Given the description of an element on the screen output the (x, y) to click on. 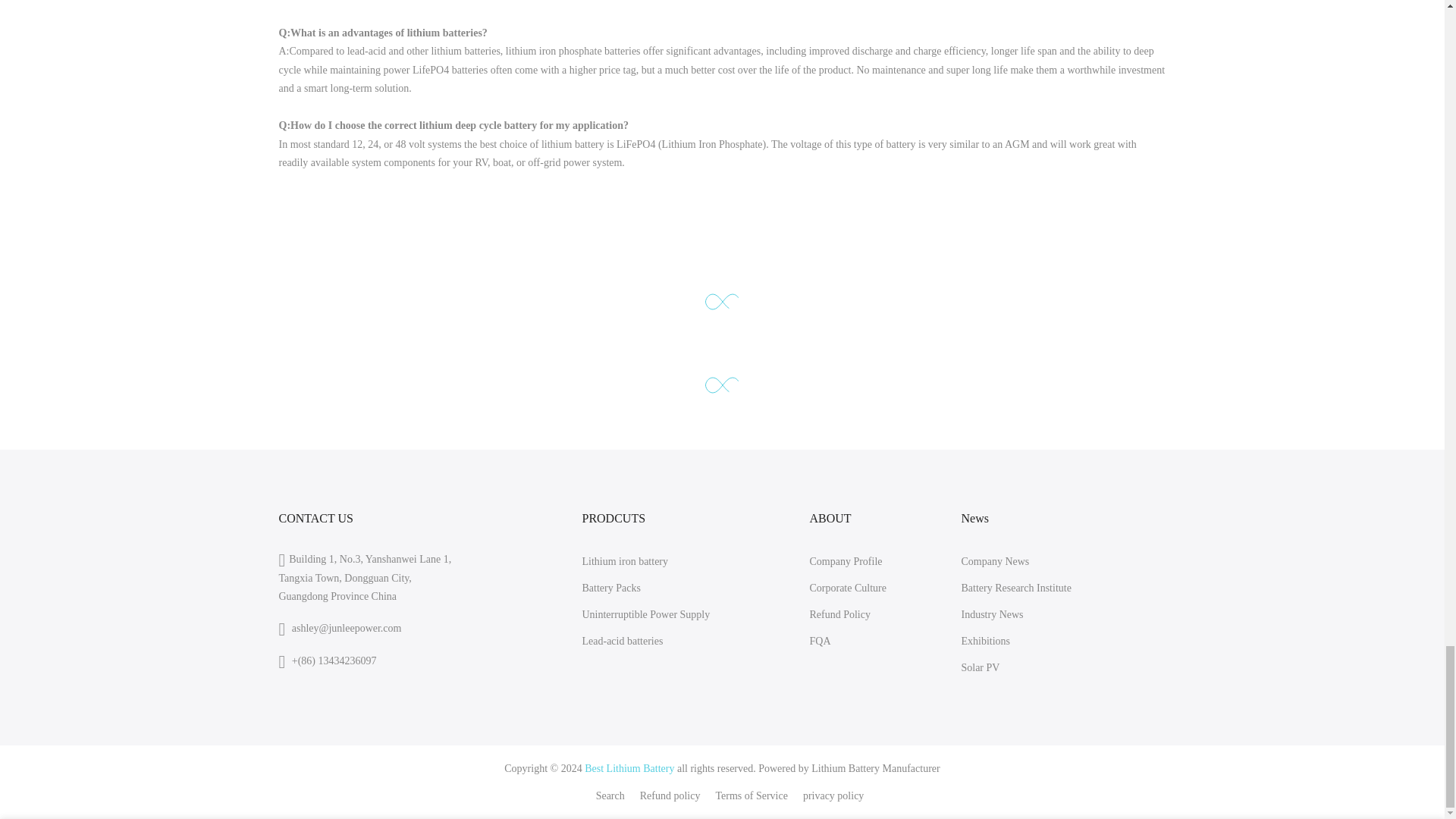
Corporate Culture (847, 587)
Lead-acid batteries (621, 641)
Battery Packs (610, 587)
Lithium Battery Manufacturer-Terms of Service (750, 795)
Company News (994, 561)
Refund Policy (839, 614)
Battery Research Institute (1015, 587)
Uninterruptible Power Supply (645, 614)
Lithium iron battery (624, 561)
Lithium Battery Manufacturer-privacy policy (833, 795)
